Given the description of an element on the screen output the (x, y) to click on. 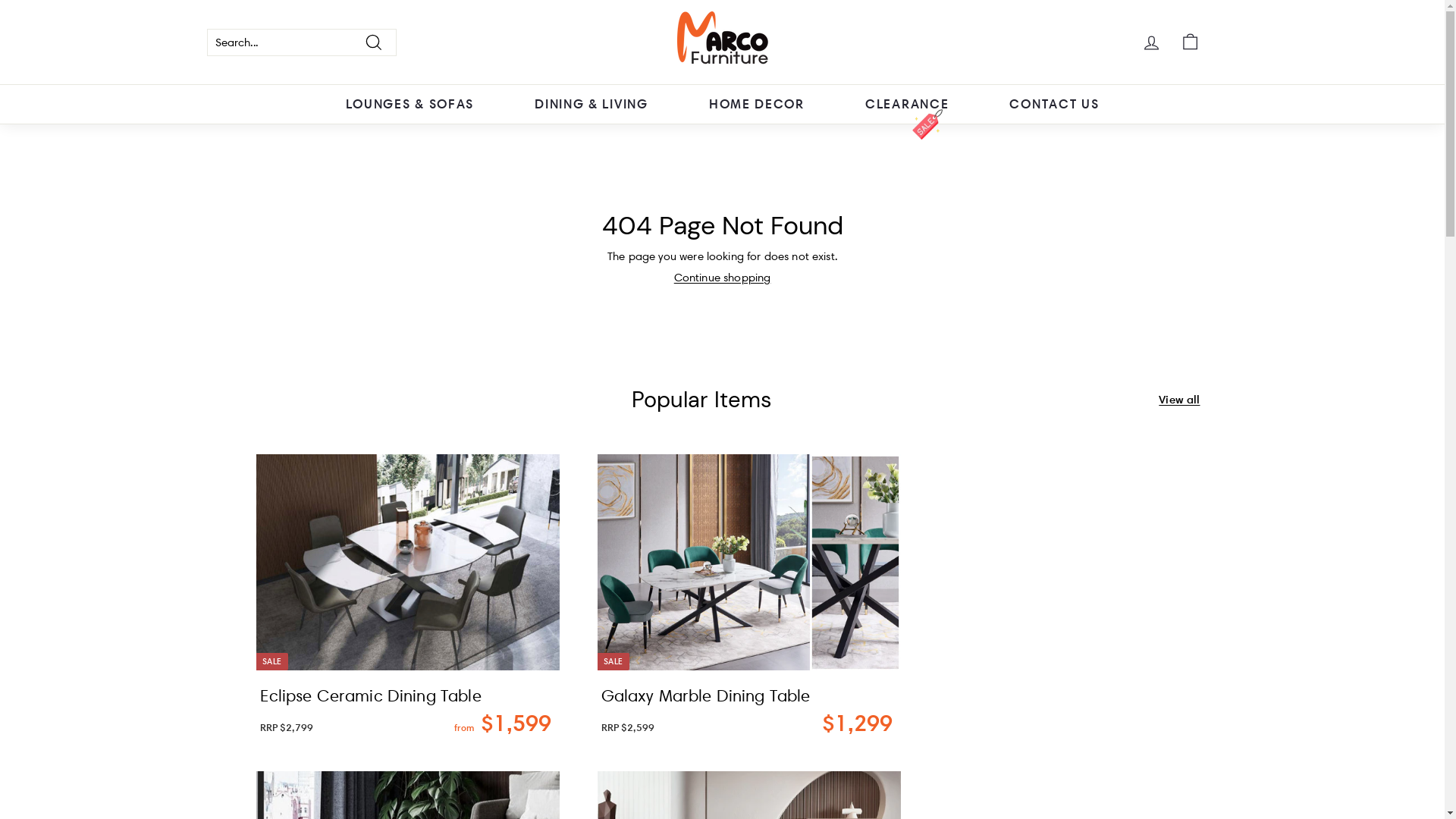
CONTACT US Element type: text (1053, 103)
Galaxy Marble Dining Table Element type: text (748, 695)
CLEARANCE Element type: text (906, 103)
SALE Element type: text (748, 556)
DINING & LIVING Element type: text (591, 103)
Eclipse Ceramic Dining Table Element type: text (407, 695)
LOUNGES & SOFAS Element type: text (409, 103)
View all Element type: text (1178, 399)
SALE Element type: text (407, 556)
HOME DECOR Element type: text (756, 103)
Continue shopping Element type: text (722, 277)
